Given the description of an element on the screen output the (x, y) to click on. 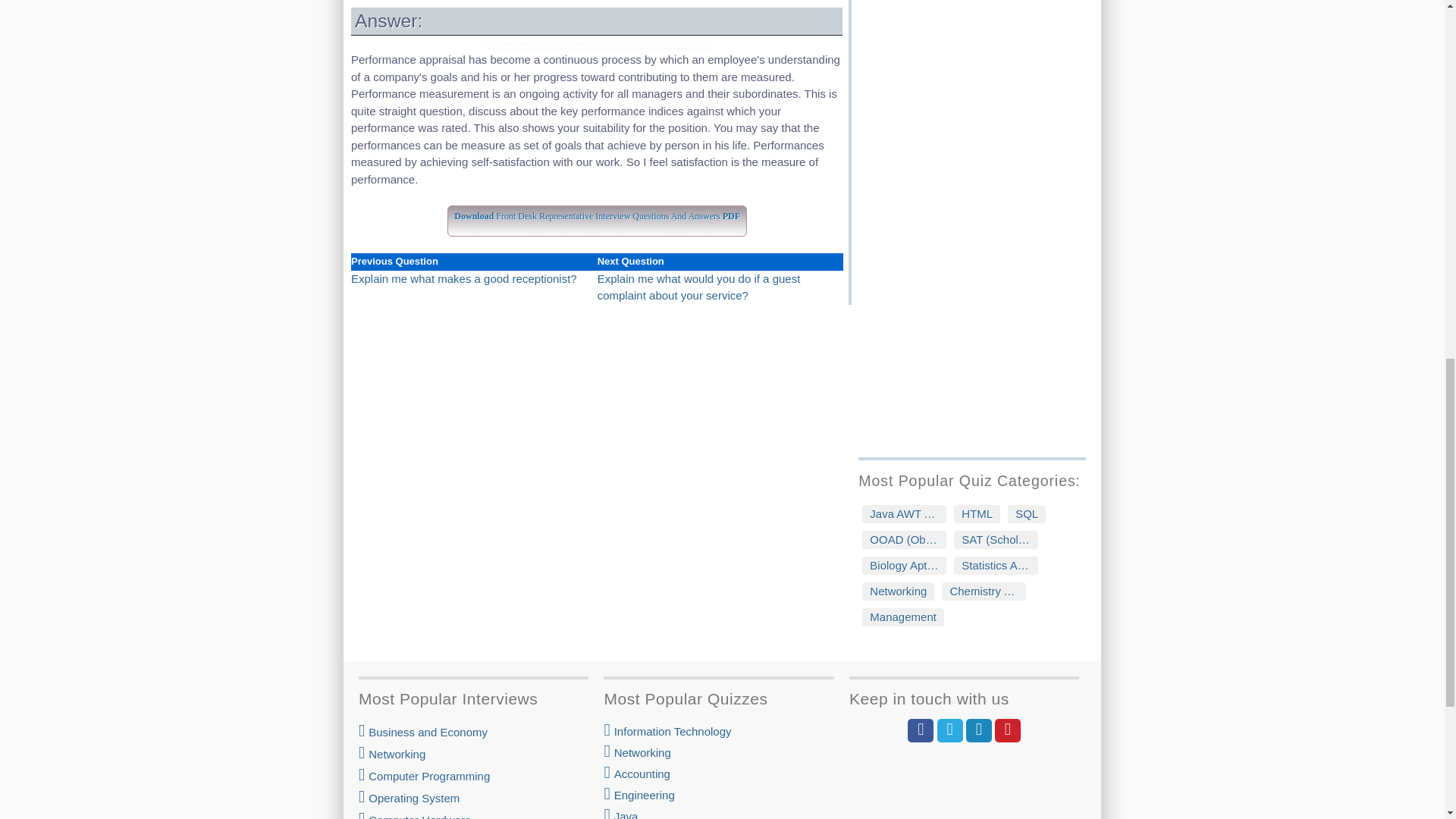
Explain me what makes a good receptionist? (463, 278)
Peon (978, 27)
Music Therapist (978, 7)
